Given the description of an element on the screen output the (x, y) to click on. 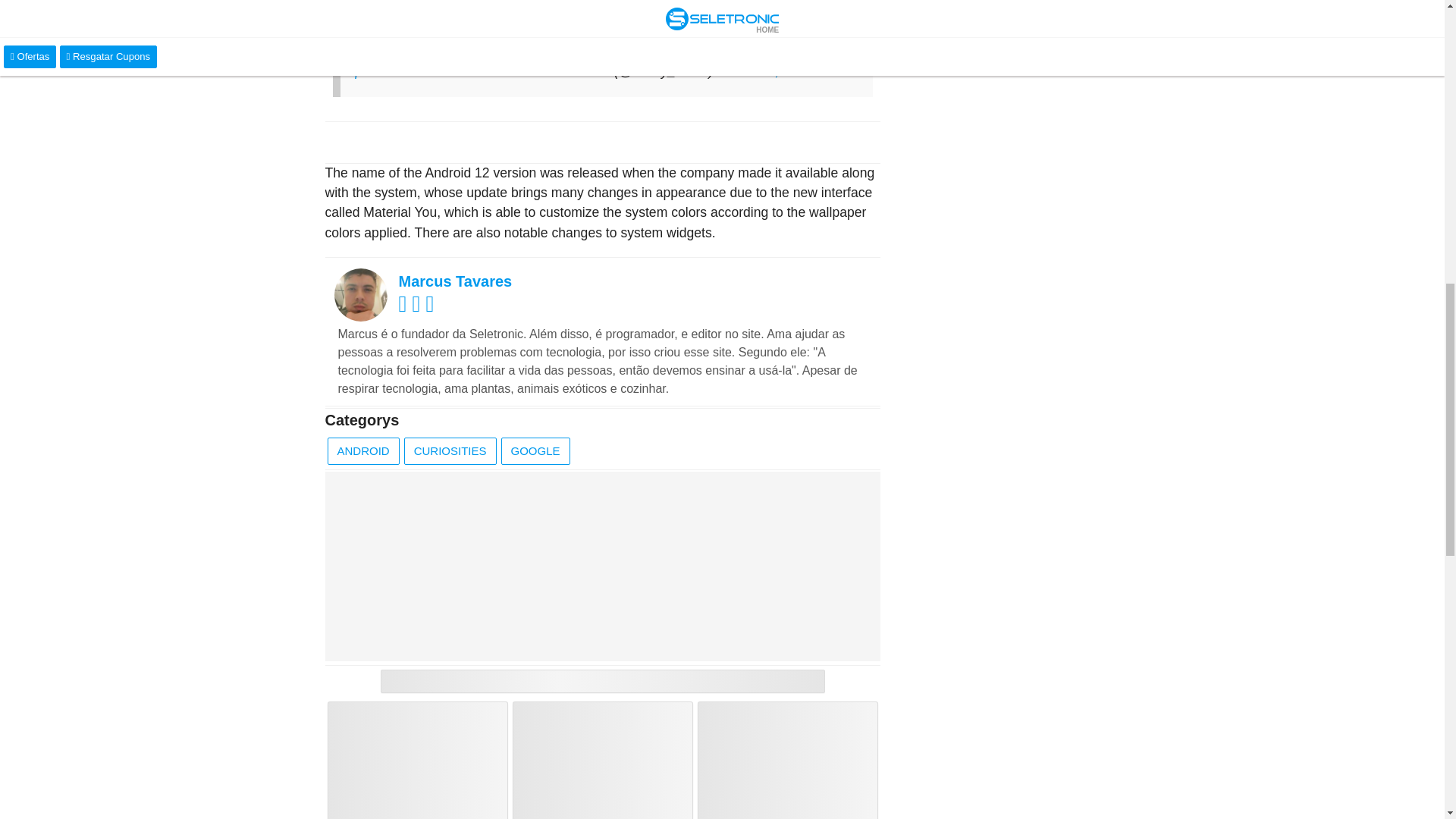
ANDROID (362, 451)
Linkedin (432, 307)
Android (362, 451)
Marcus Tavares (455, 280)
CURIOSITIES (450, 451)
3rd party ad content (602, 565)
Google (535, 451)
Marcus Tavares (455, 280)
October 4, 2021 (764, 70)
